Given the description of an element on the screen output the (x, y) to click on. 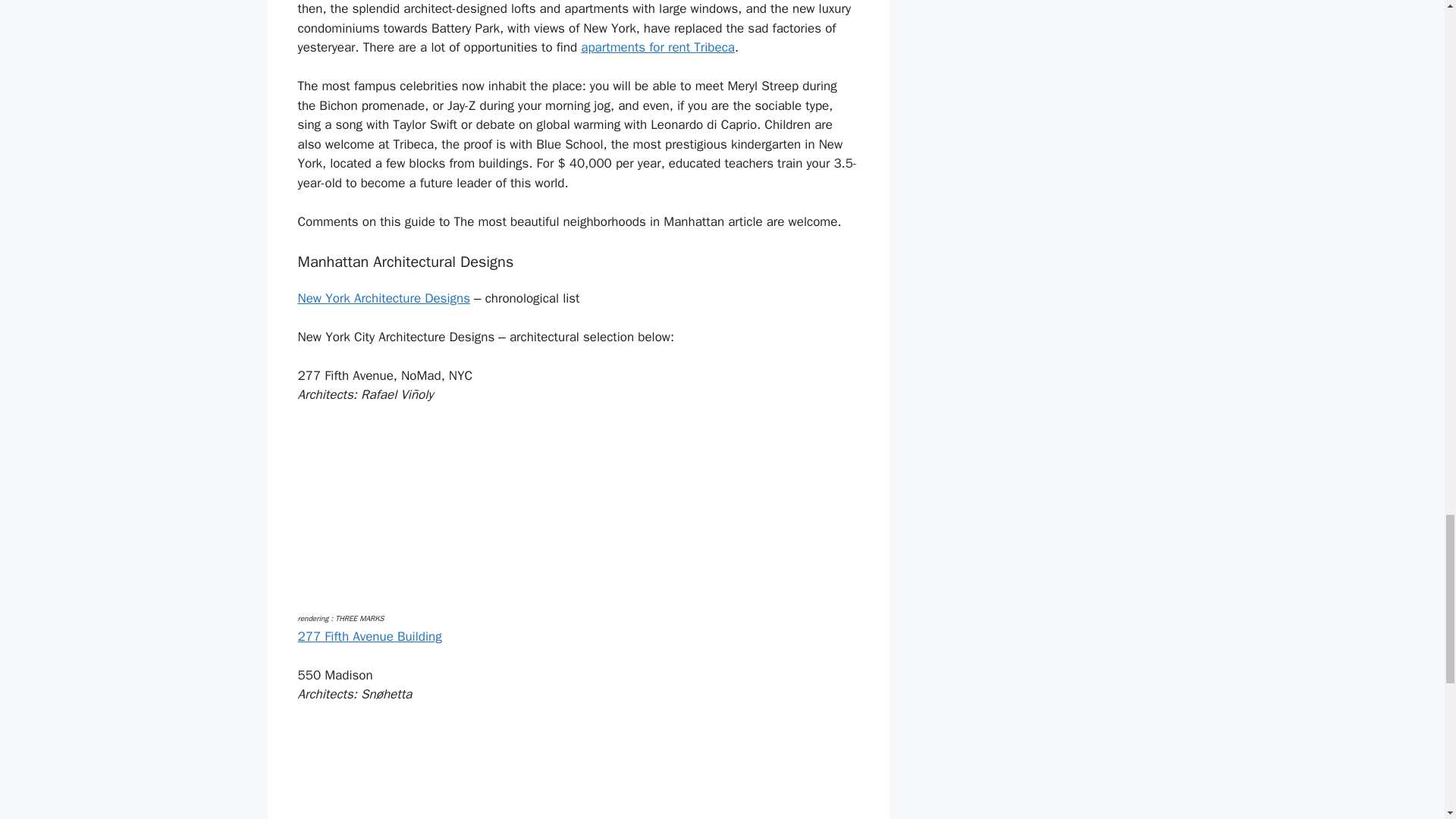
New York Architecture Designs (383, 298)
277 Fifth Avenue Building (369, 636)
apartments for rent Tribeca (657, 47)
